Given the description of an element on the screen output the (x, y) to click on. 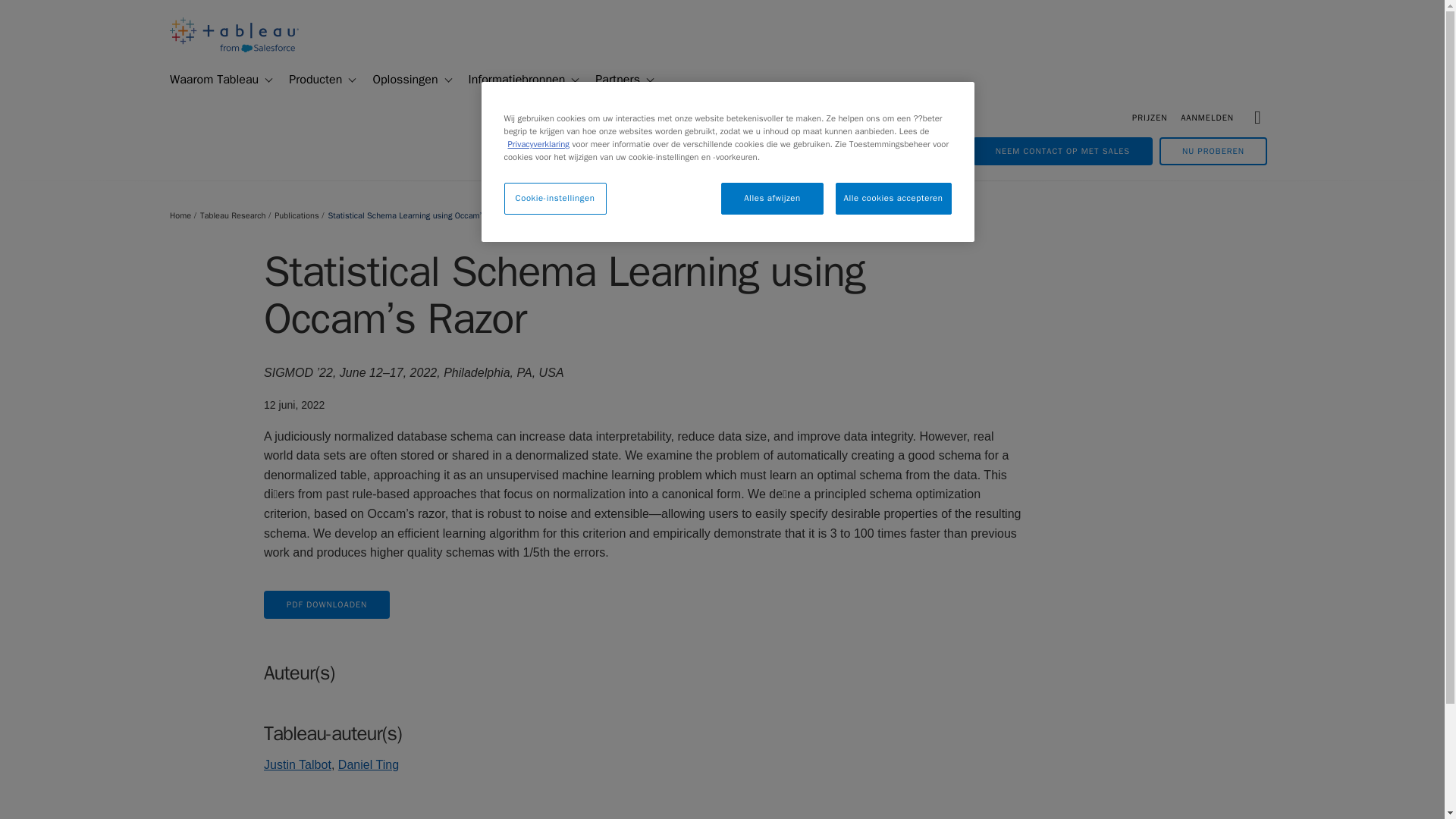
Oplossingen (398, 79)
Terug naar Tableau Software-startpagina (234, 48)
Producten (309, 79)
Waarom Tableau (208, 79)
